Given the description of an element on the screen output the (x, y) to click on. 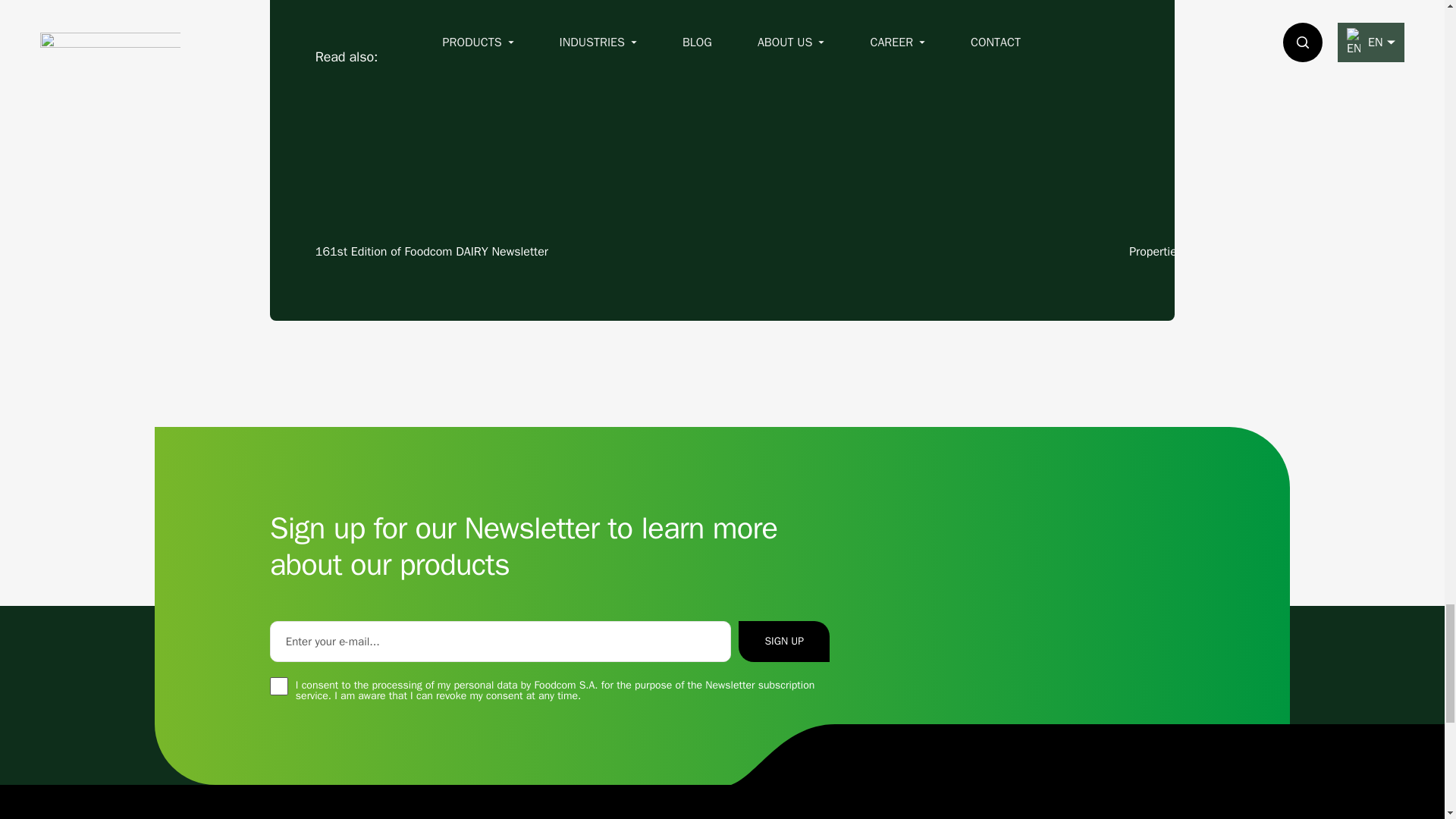
Foodcom S.A - What (722, 159)
Properties and Applications of Functional Additives (1292, 159)
